Given the description of an element on the screen output the (x, y) to click on. 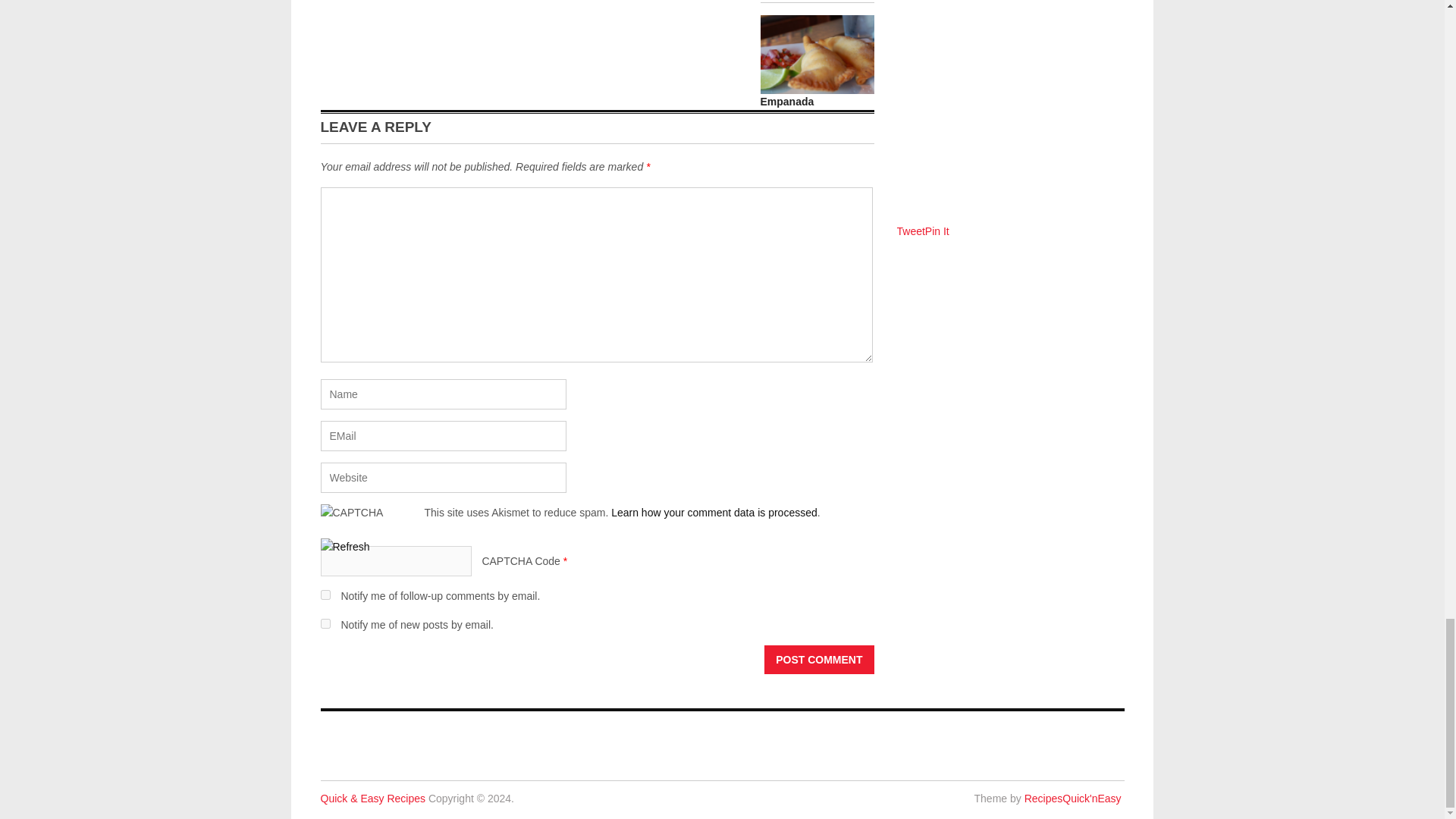
Empanada (786, 101)
Post Comment (818, 659)
Refresh (344, 546)
subscribe (325, 623)
CAPTCHA (371, 521)
Empanada (786, 101)
Post Comment (818, 659)
Learn how your comment data is processed (713, 512)
RecipesQuick'nEasy (1073, 798)
subscribe (325, 594)
